Given the description of an element on the screen output the (x, y) to click on. 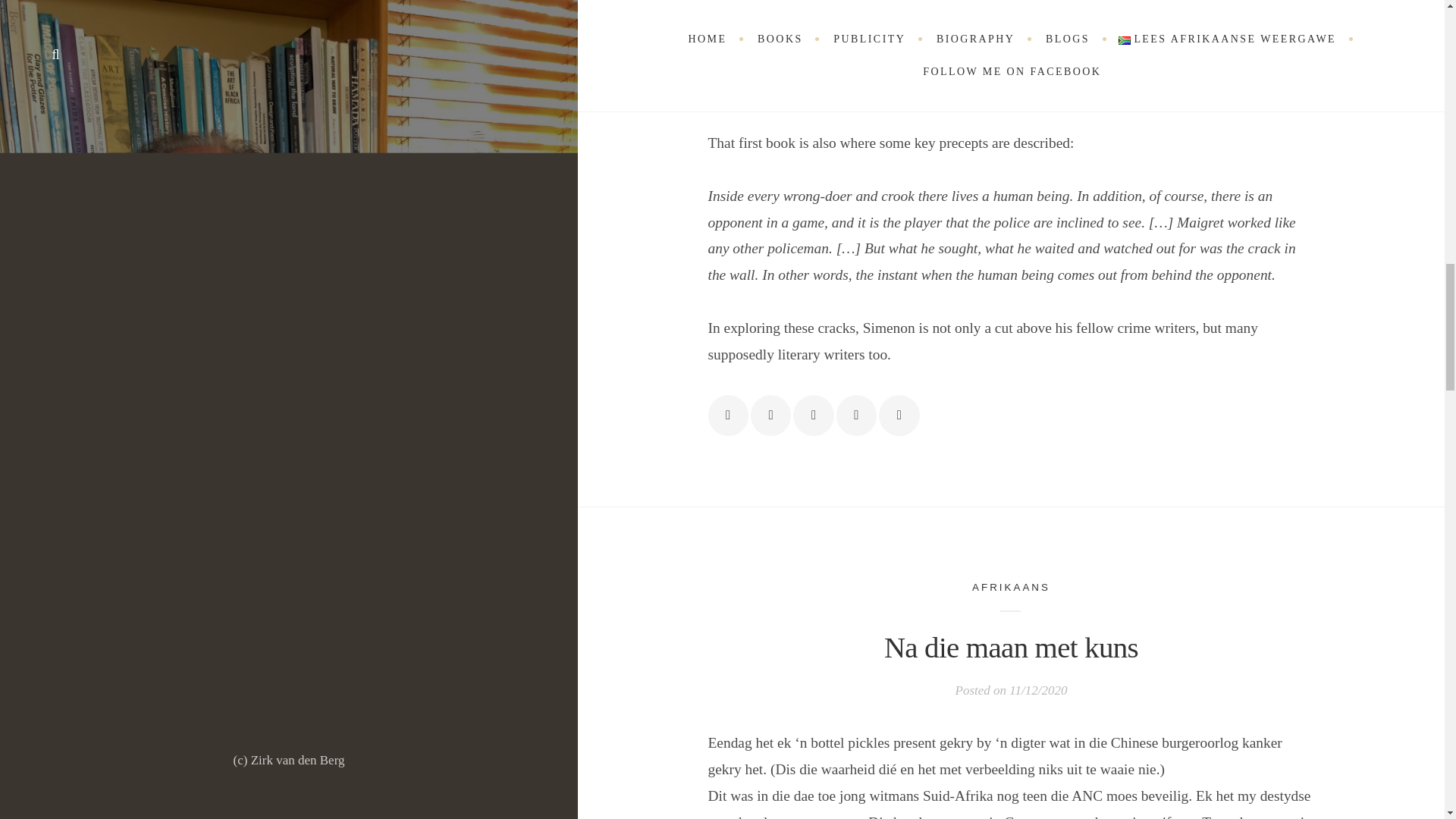
Pin It (855, 414)
Share on Facebook (727, 414)
Share on Tumblr (898, 414)
Share on Google Plus (812, 414)
Tweet It (770, 414)
